Given the description of an element on the screen output the (x, y) to click on. 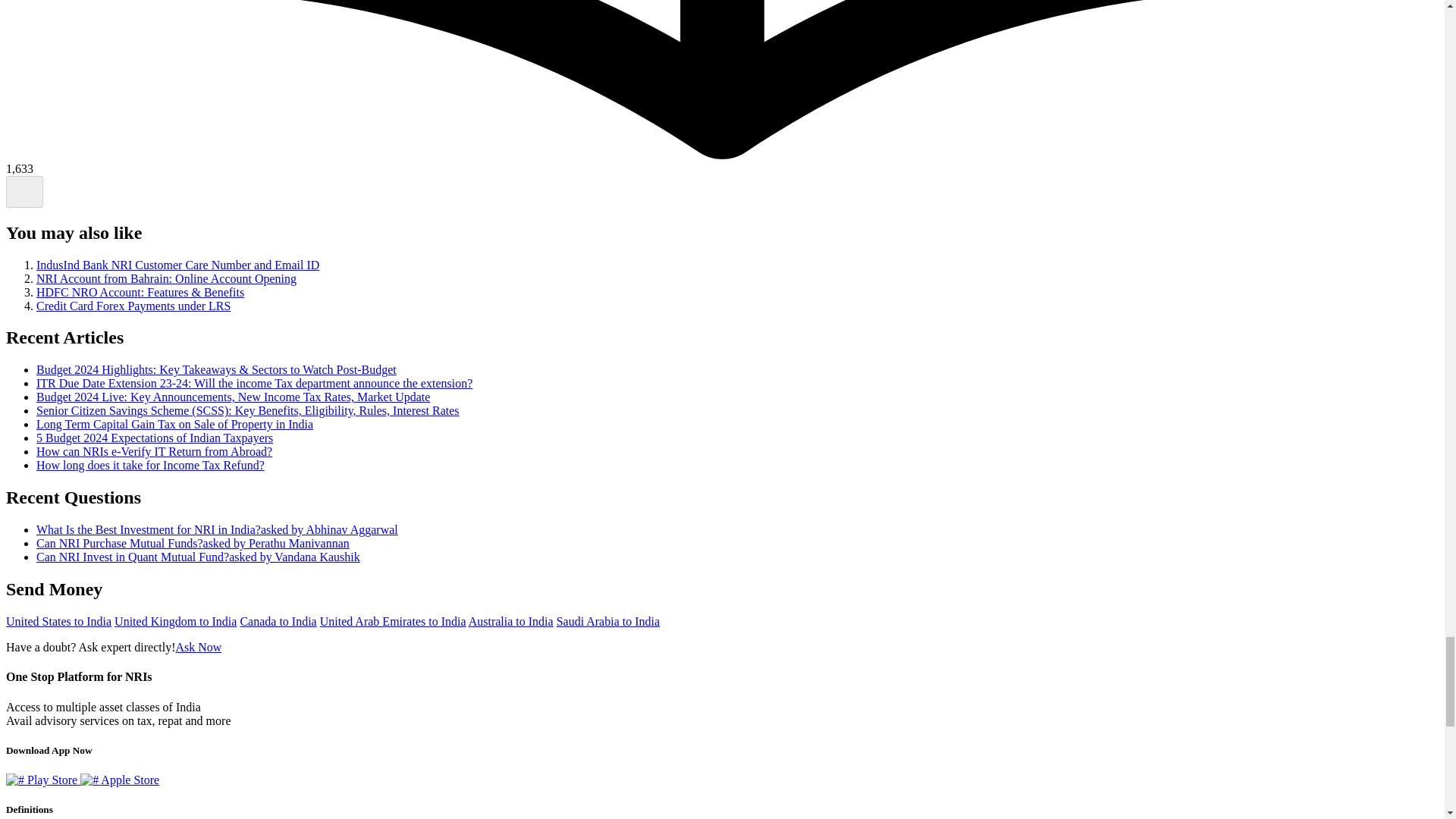
SBNRI (197, 646)
